Given the description of an element on the screen output the (x, y) to click on. 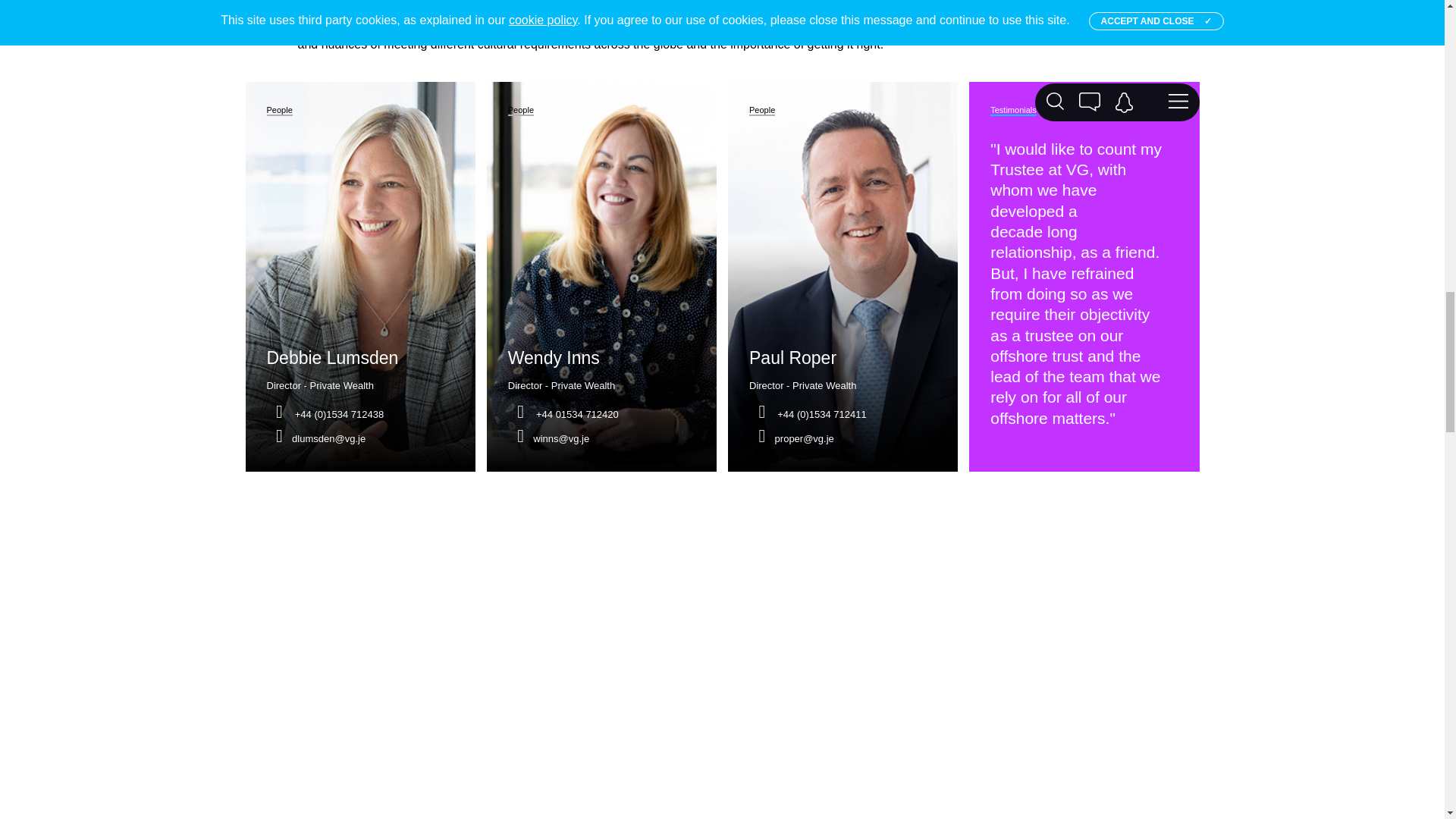
People (521, 110)
People (279, 110)
Debbie Lumsden (332, 357)
